Given the description of an element on the screen output the (x, y) to click on. 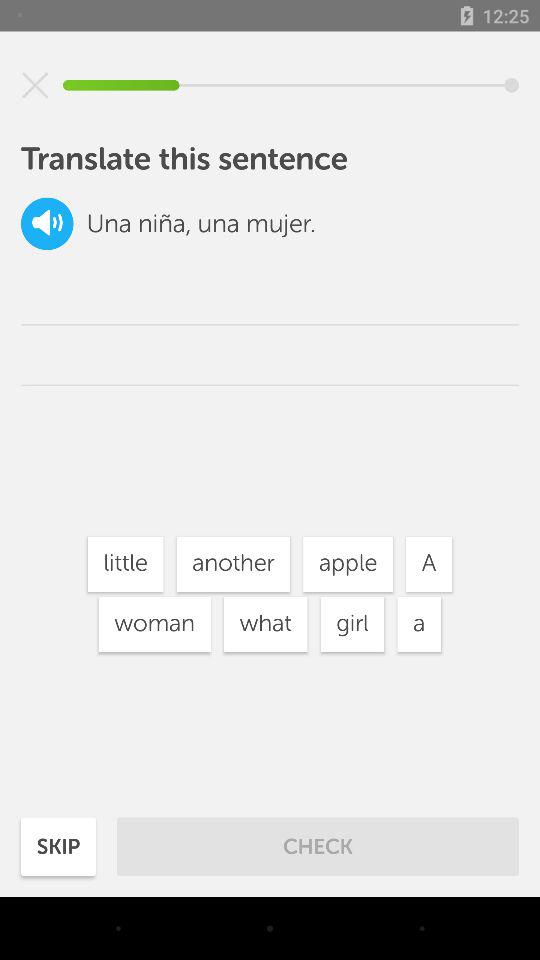
launch icon next to the another (125, 563)
